Given the description of an element on the screen output the (x, y) to click on. 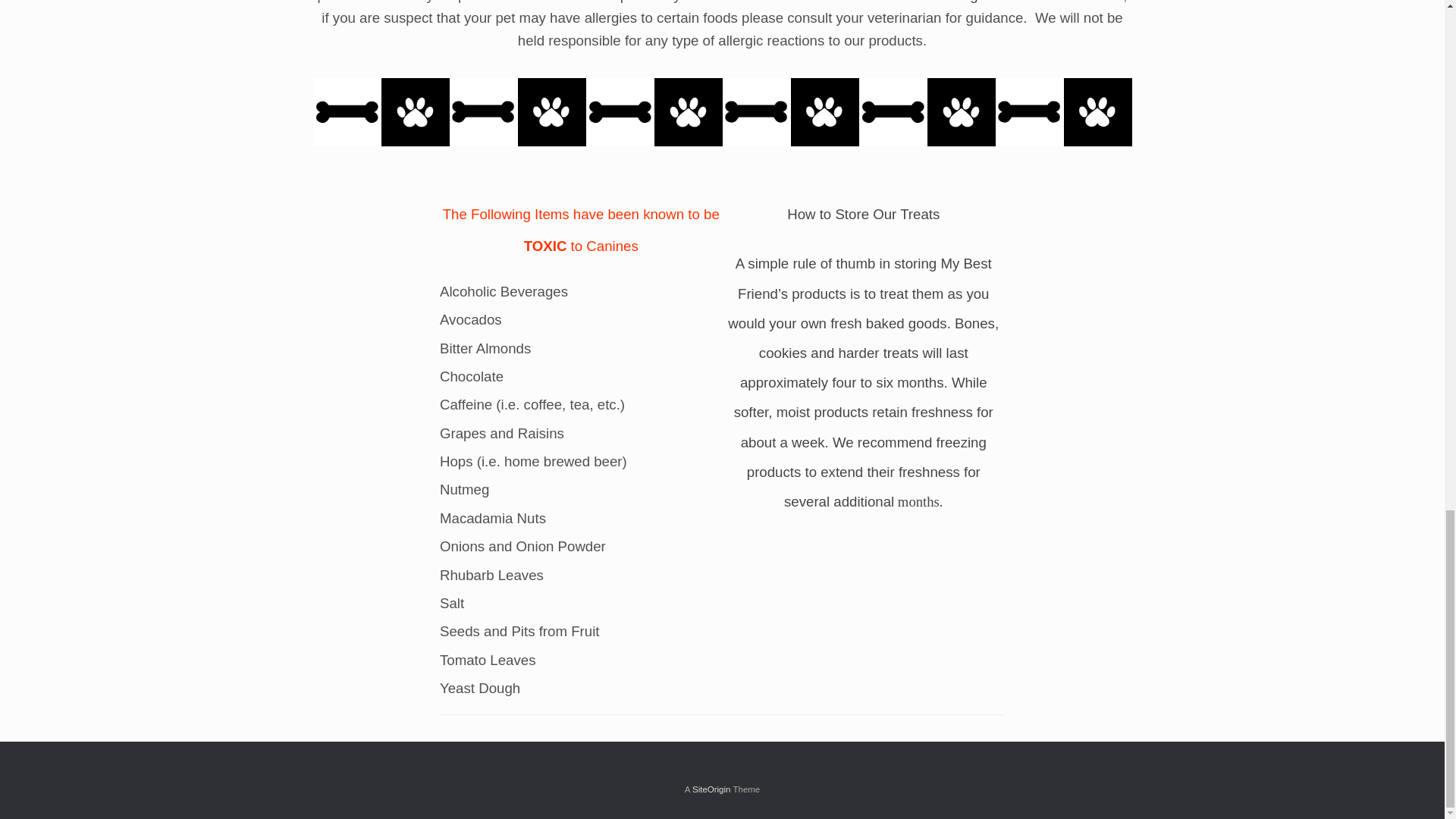
SiteOrigin (711, 788)
